Given the description of an element on the screen output the (x, y) to click on. 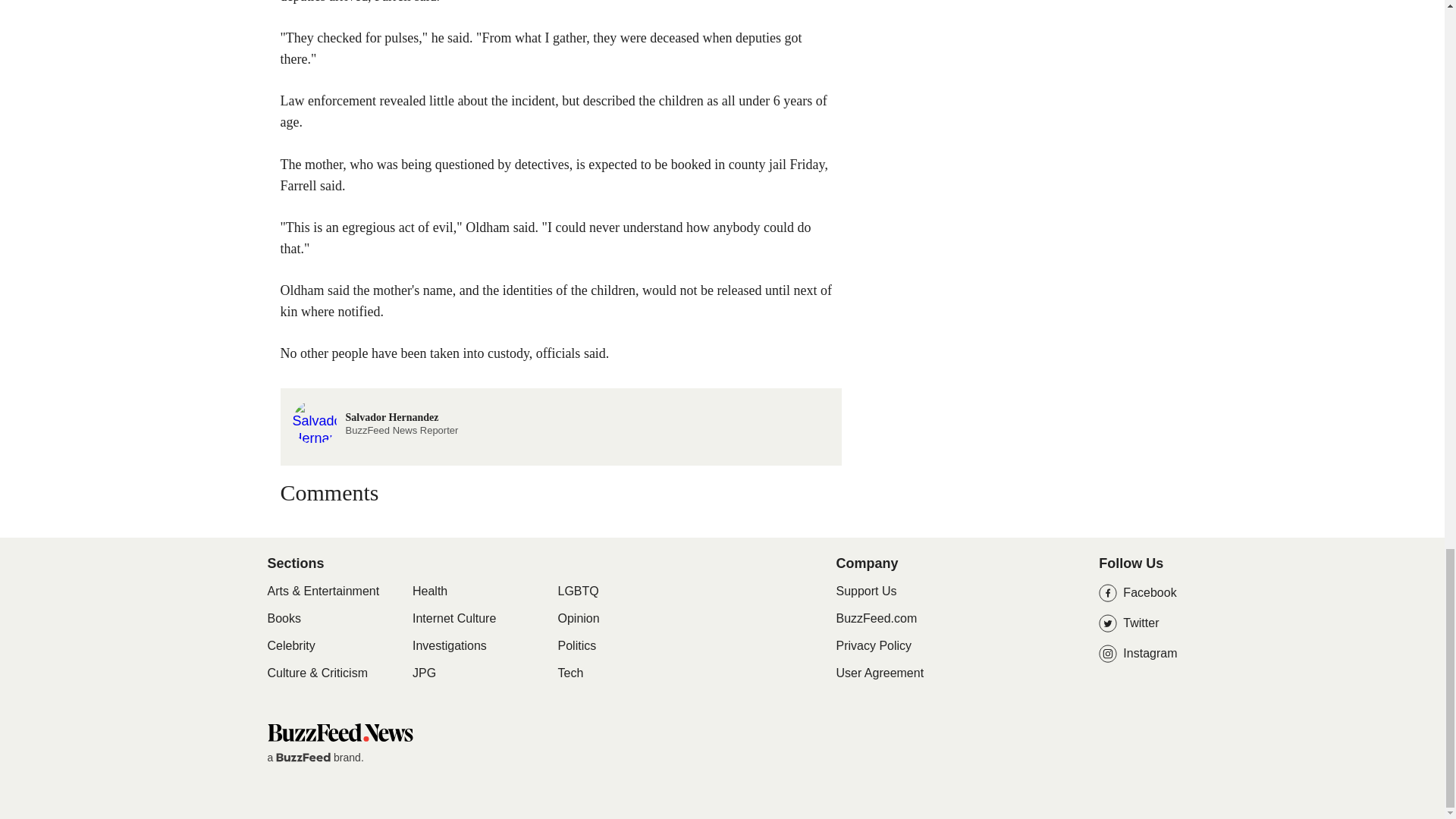
BuzzFeed News Home (339, 732)
Celebrity (290, 645)
Opinion (578, 618)
Investigations (449, 645)
Politics (576, 645)
Support Us (865, 590)
Tech (570, 672)
JPG (423, 672)
Internet Culture (454, 618)
BuzzFeed (303, 757)
